Given the description of an element on the screen output the (x, y) to click on. 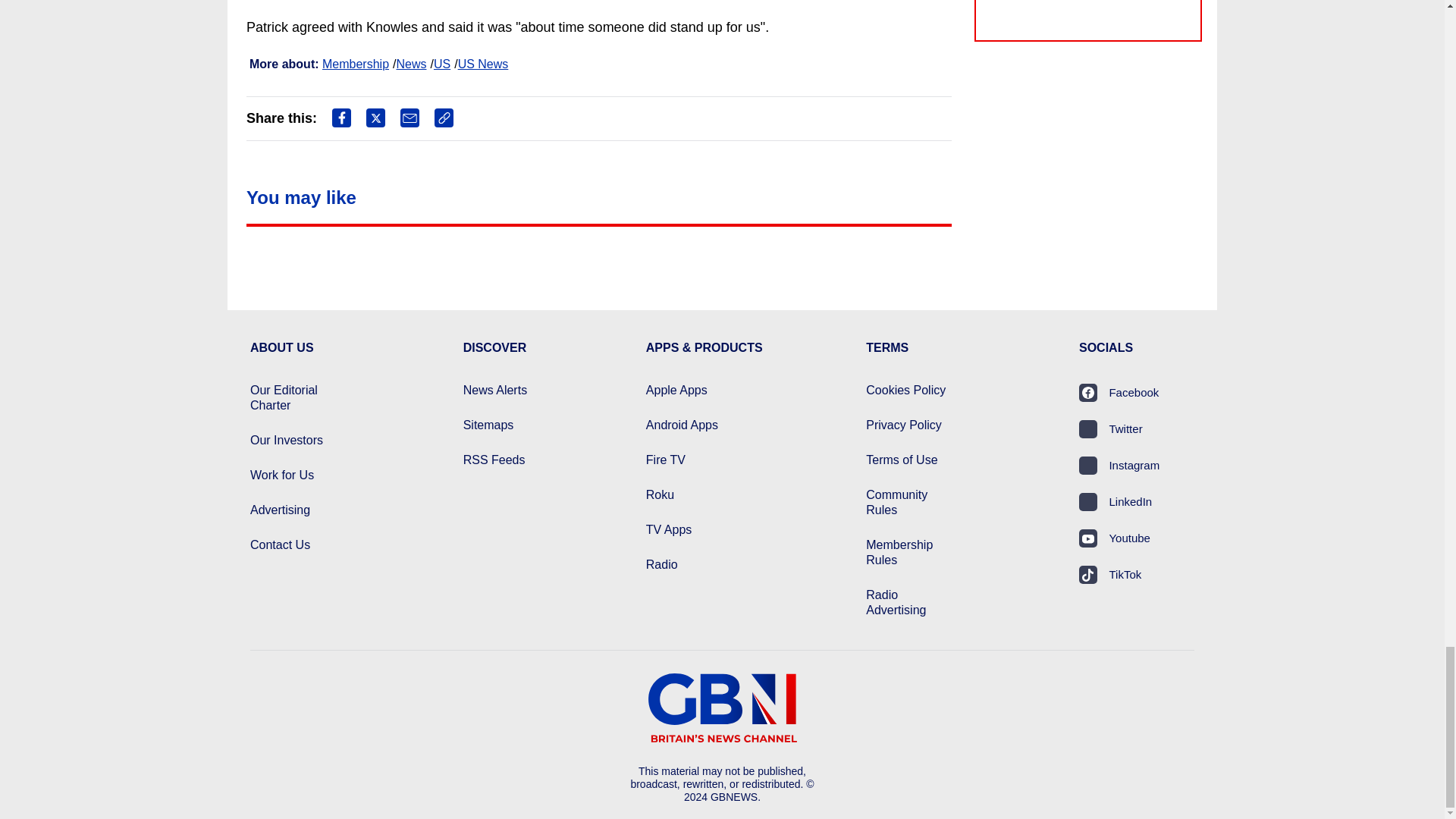
Copy this link to clipboard (442, 117)
